Given the description of an element on the screen output the (x, y) to click on. 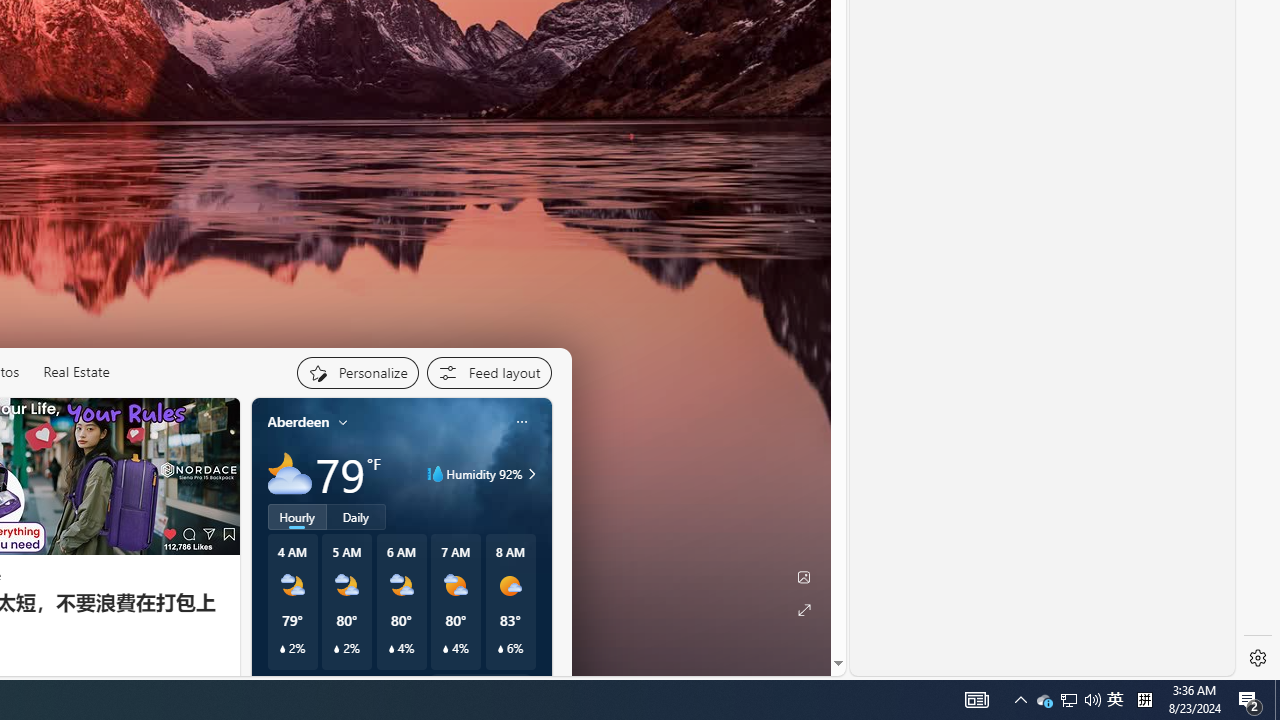
Hourly (296, 516)
Mostly cloudy (289, 474)
Personalize your feed" (356, 372)
My location (343, 421)
Mostly cloudy (289, 474)
Edit Background (803, 577)
Ad Choice (217, 681)
Real Estate (75, 372)
